Given the description of an element on the screen output the (x, y) to click on. 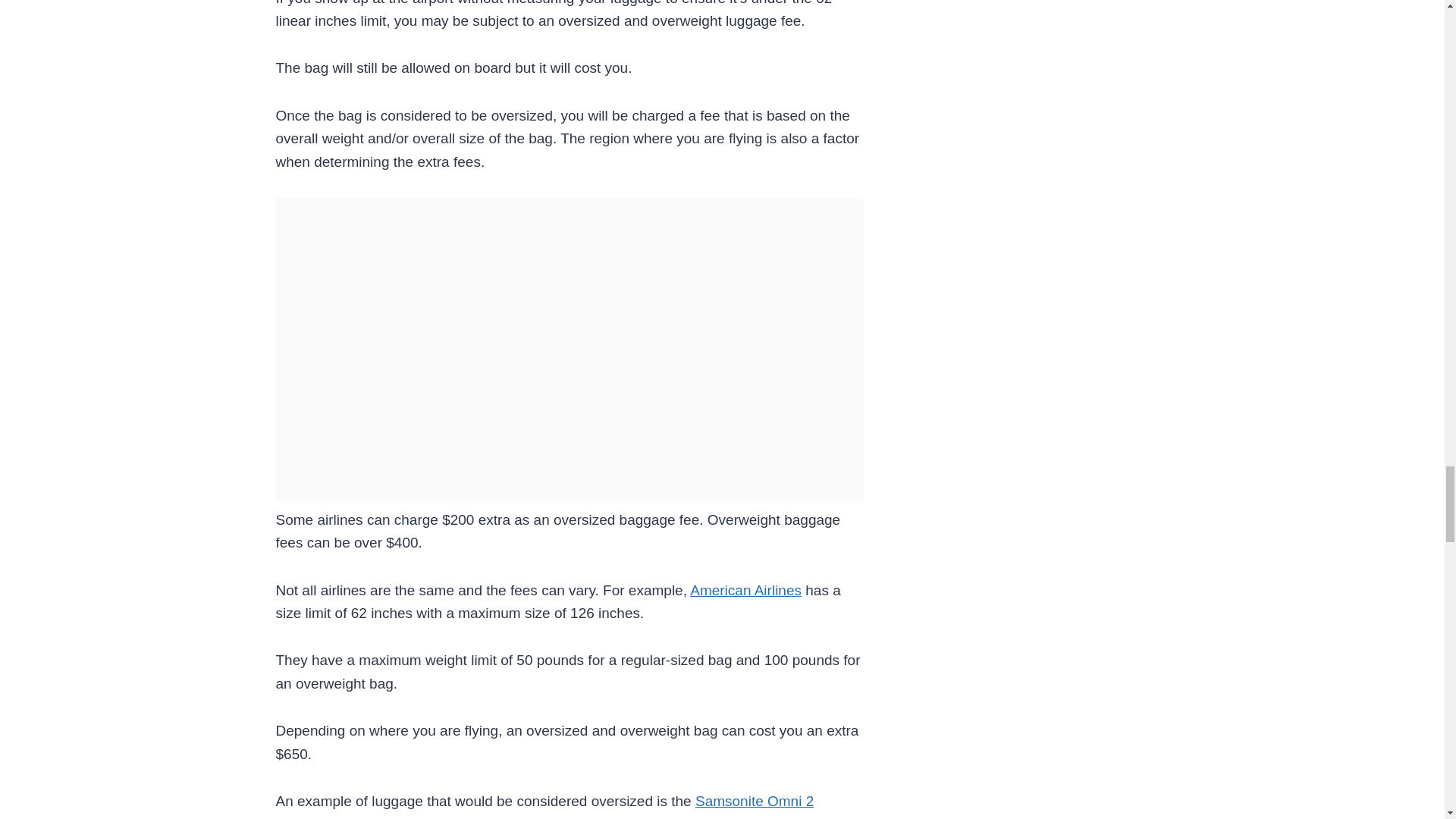
American Airlines (746, 590)
Samsonite Omni 2 Hardside Luggage (544, 806)
